Given the description of an element on the screen output the (x, y) to click on. 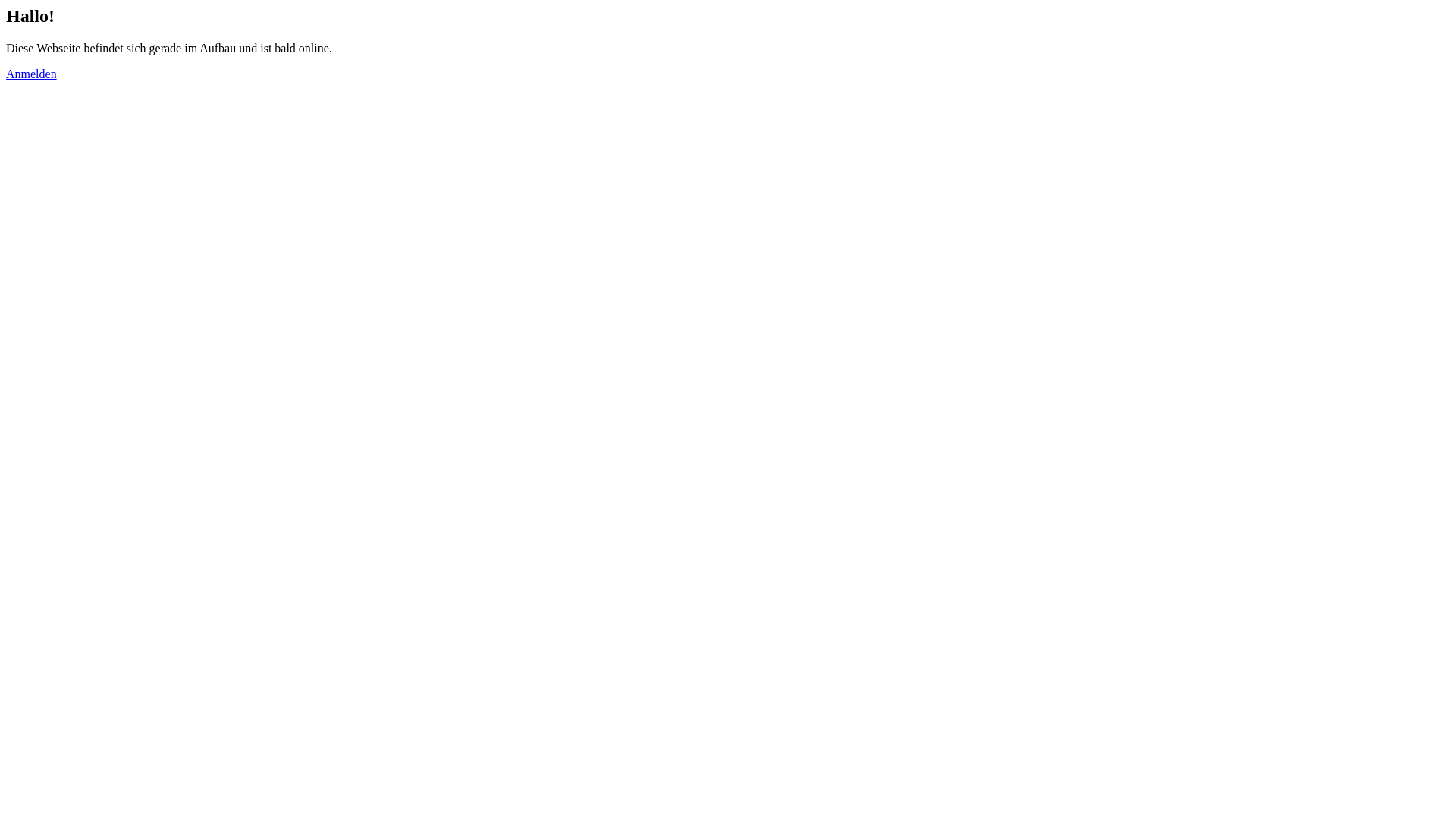
Anmelden Element type: text (31, 73)
